Given the description of an element on the screen output the (x, y) to click on. 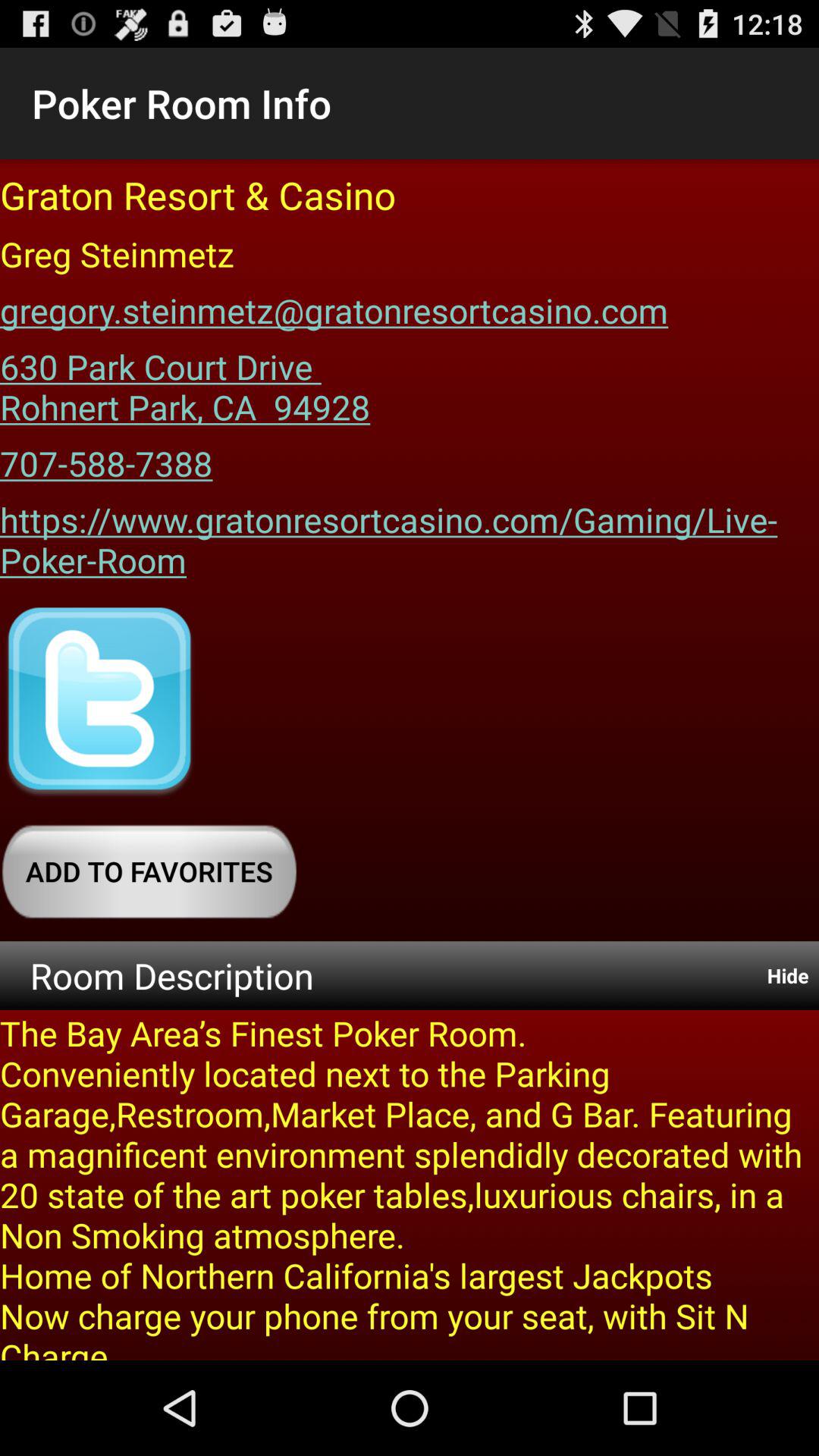
go to website 's twitter page (99, 701)
